Given the description of an element on the screen output the (x, y) to click on. 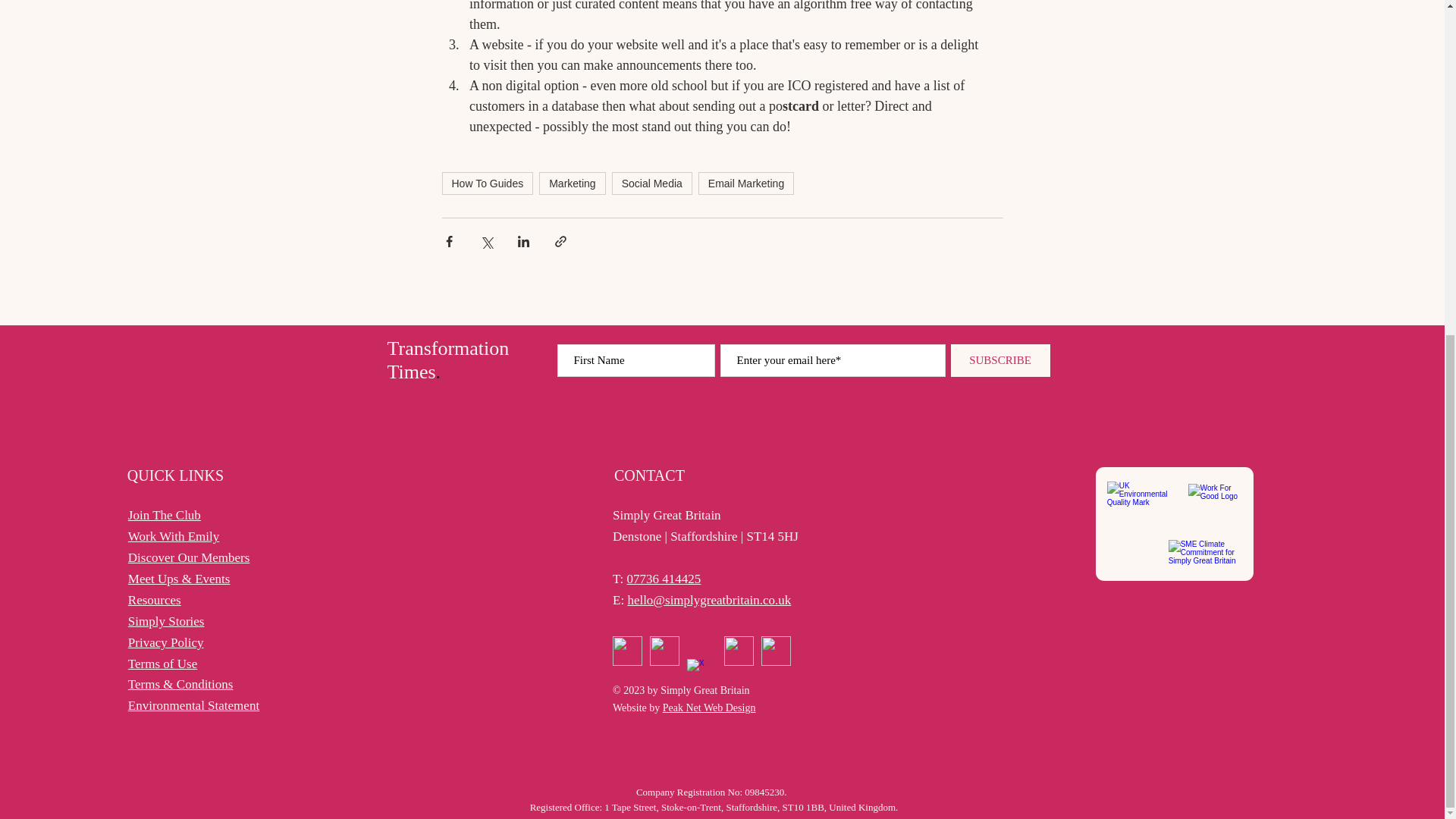
Email Marketing (745, 182)
2023 SME Committed Badge.png (1208, 555)
Marketing (571, 182)
How To Guides (486, 182)
Social Media (652, 182)
